Given the description of an element on the screen output the (x, y) to click on. 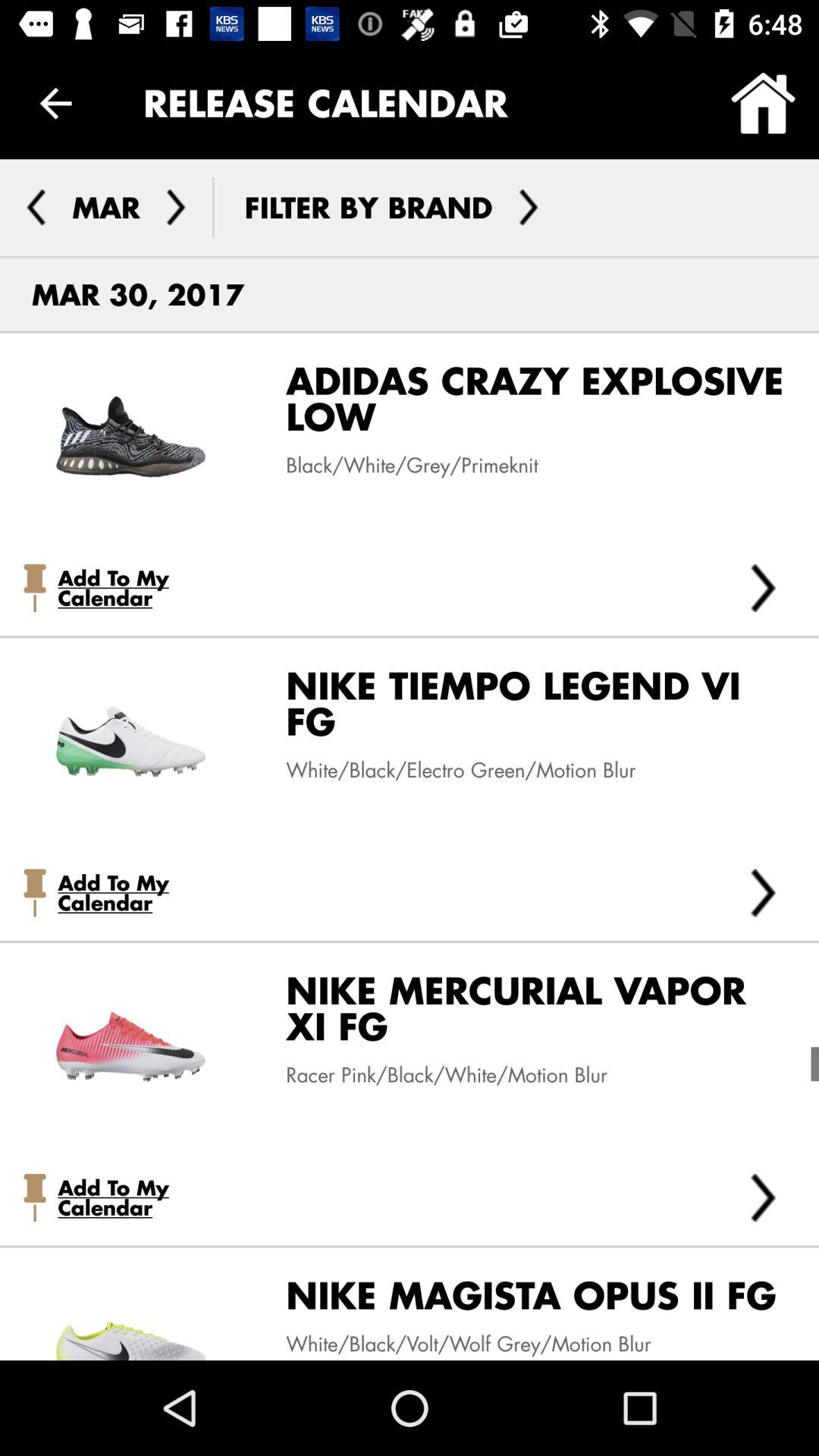
tap racer pink black (434, 1074)
